Given the description of an element on the screen output the (x, y) to click on. 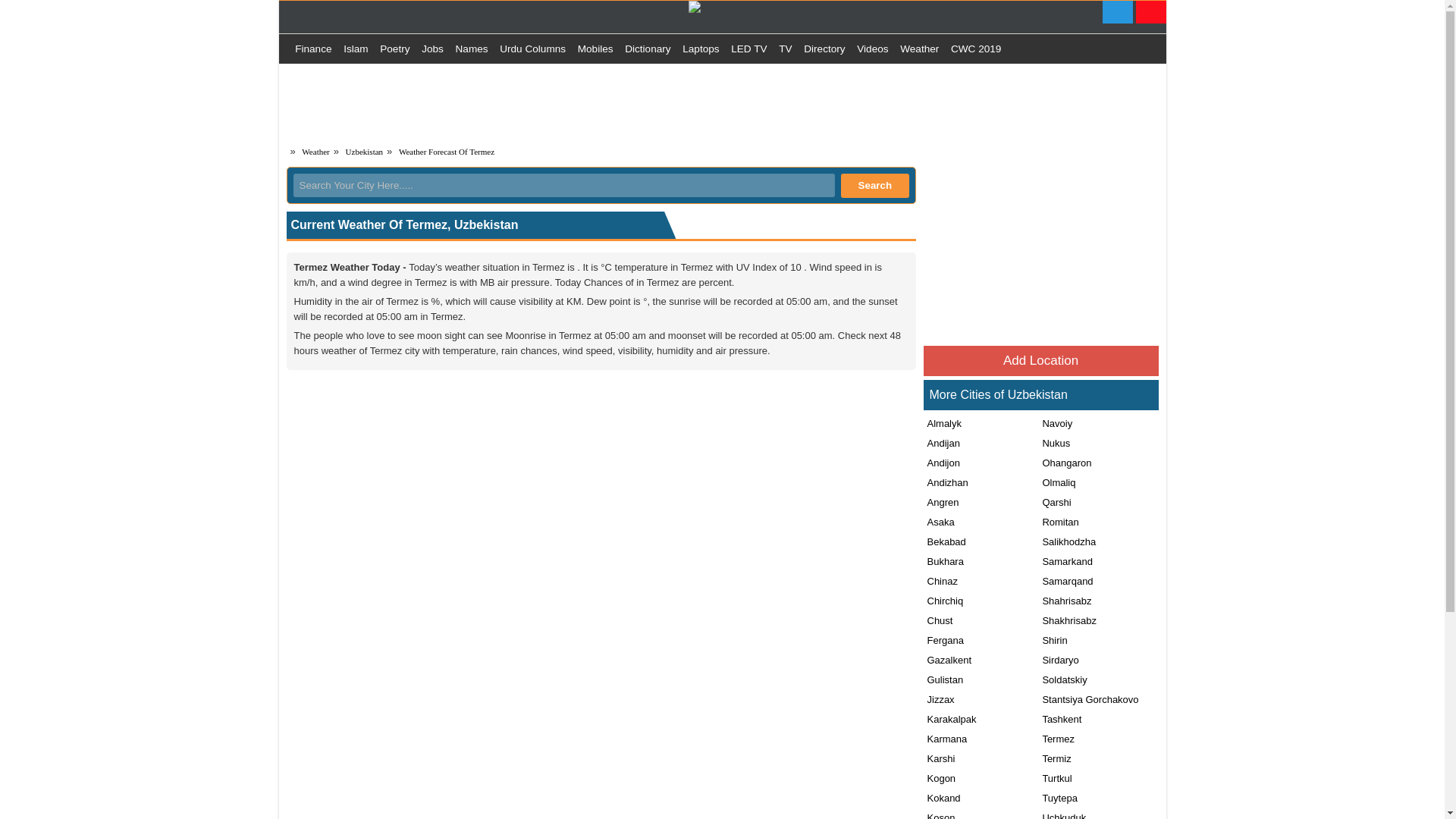
Videos (871, 49)
Search (874, 185)
Almalyk (942, 423)
Andijan (941, 443)
LED TV (748, 49)
Poetry (394, 49)
Mobiles (595, 49)
Weather Forecast Of Termez (446, 151)
Chust (938, 620)
Weather (315, 151)
